Given the description of an element on the screen output the (x, y) to click on. 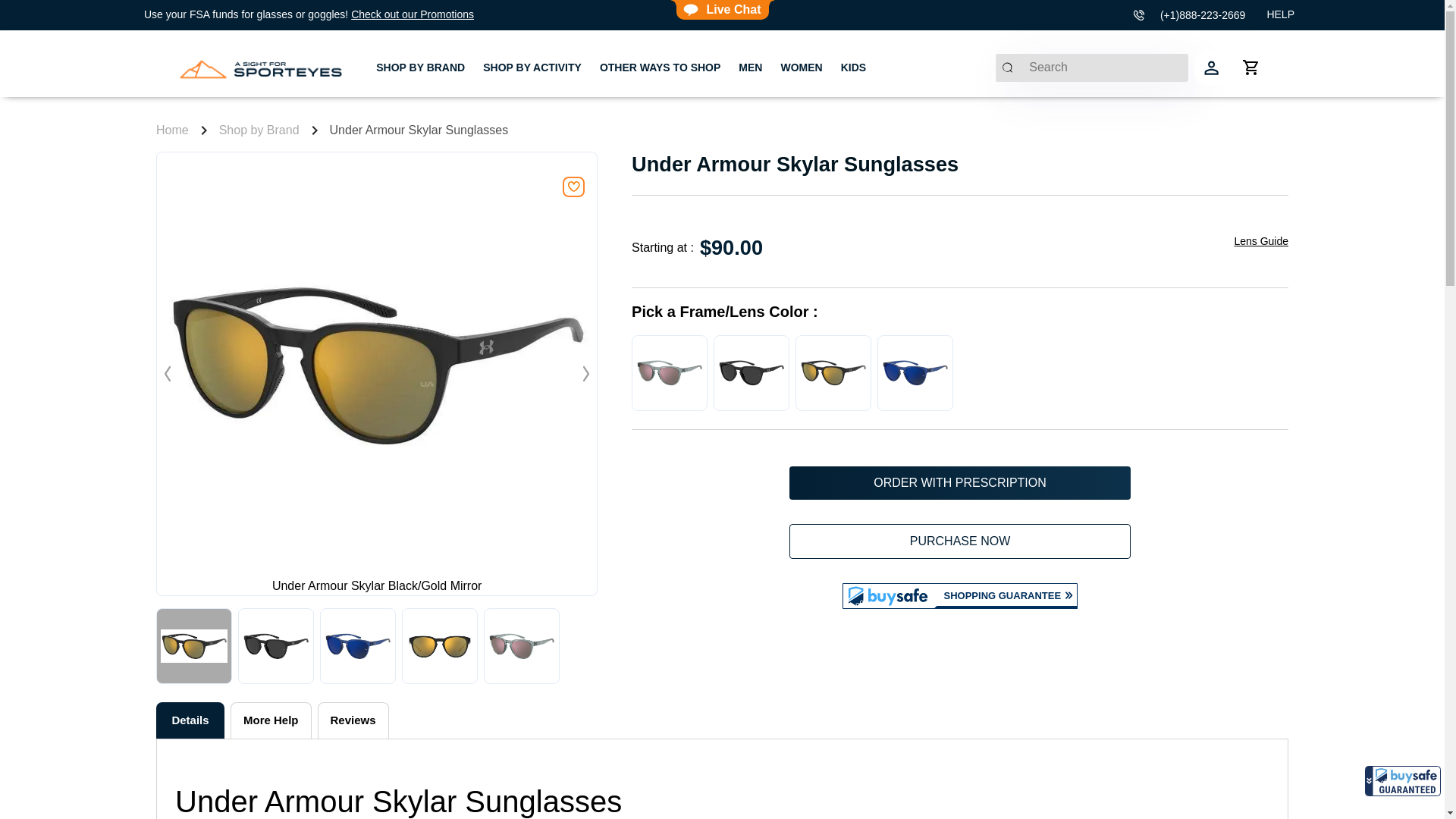
SHOP BY BRAND (419, 67)
ORDER WITH PRESCRIPTION (960, 482)
Details (189, 719)
HELP (1280, 14)
Reviews (721, 719)
More Help (352, 719)
PURCHASE NOW (270, 719)
Lens Guide (960, 541)
Shop by Brand (1260, 240)
MEN (259, 129)
SHOP BY ACTIVITY (749, 67)
Unused iFrame 1 (531, 67)
WOMEN (1403, 780)
Check out our Promotions (801, 67)
